Given the description of an element on the screen output the (x, y) to click on. 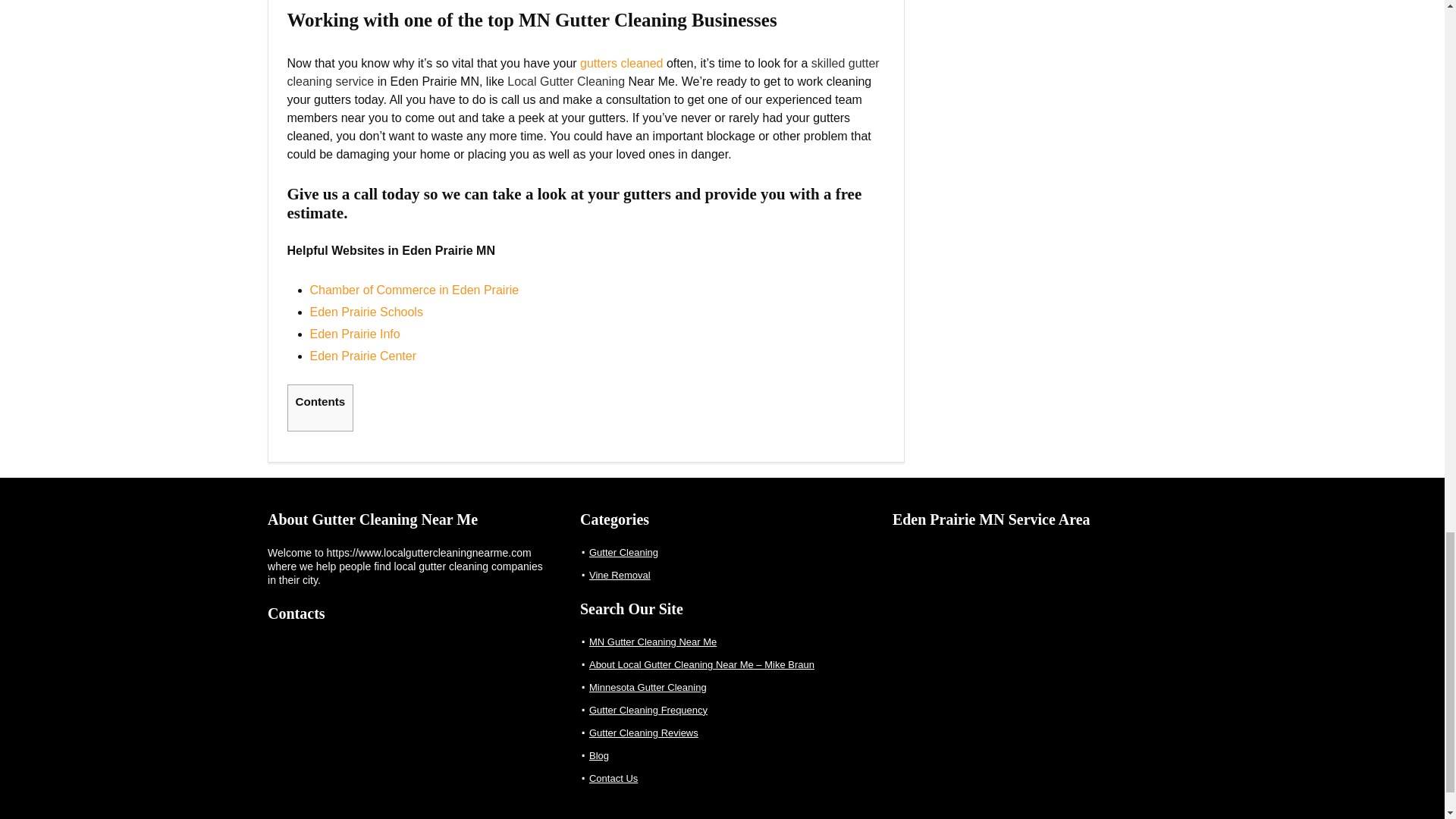
Eden Prairie Center (362, 355)
Contact Us (613, 778)
Chamber of Commerce in Eden Prairie (413, 289)
skilled gutter cleaning service (582, 71)
Blog (598, 755)
Minnesota Gutter Cleaning (647, 686)
Gutter Cleaning (623, 552)
Local Gutter Cleaning (565, 81)
Gutter Cleaning Frequency (648, 709)
Gutter Cleaning Reviews (643, 732)
